Given the description of an element on the screen output the (x, y) to click on. 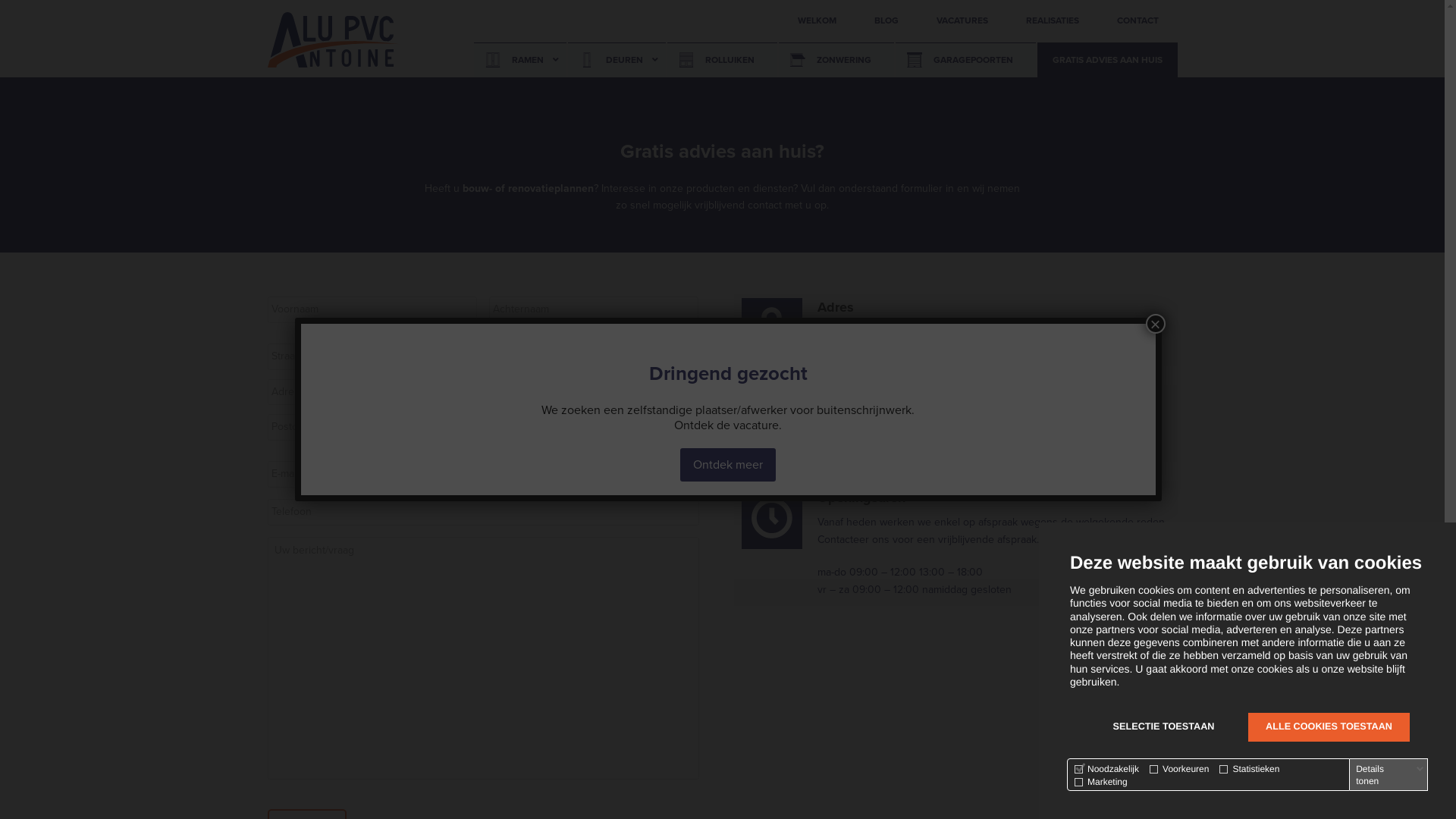
GRATIS ADVIES AAN HUIS Element type: text (1107, 60)
WELKOM Element type: text (816, 20)
REALISATIES Element type: text (1052, 20)
ALLE COOKIES TOESTAAN Element type: text (1328, 726)
info@alupvcantoine.be Element type: text (869, 444)
ZONWERING Element type: text (835, 60)
BLOG Element type: text (886, 20)
Ontdek meer Element type: text (727, 464)
+32 (0)53 66 71 94 Element type: text (860, 426)
ROLLUIKEN Element type: text (722, 60)
GARAGEPOORTEN Element type: text (964, 60)
DEUREN Element type: text (616, 60)
CONTACT Element type: text (1137, 20)
Details tonen Element type: text (1389, 774)
053 66 71 94 Element type: text (1323, 757)
SELECTIE TOESTAAN Element type: text (1163, 726)
RAMEN Element type: text (519, 60)
VACATURES Element type: text (962, 20)
